Given the description of an element on the screen output the (x, y) to click on. 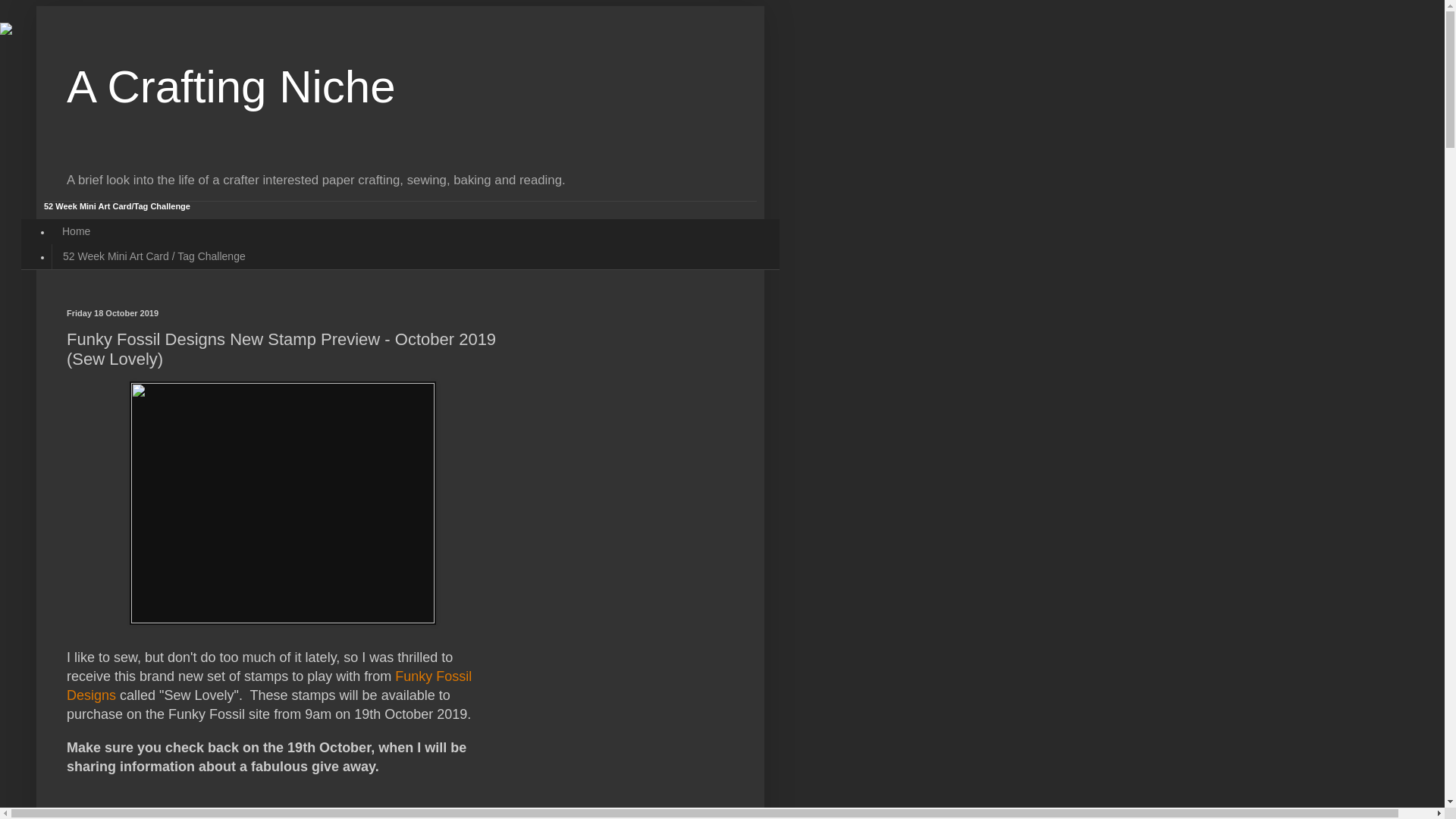
Home (75, 231)
A Crafting Niche (231, 86)
Funky Fossil Designs (268, 685)
